Given the description of an element on the screen output the (x, y) to click on. 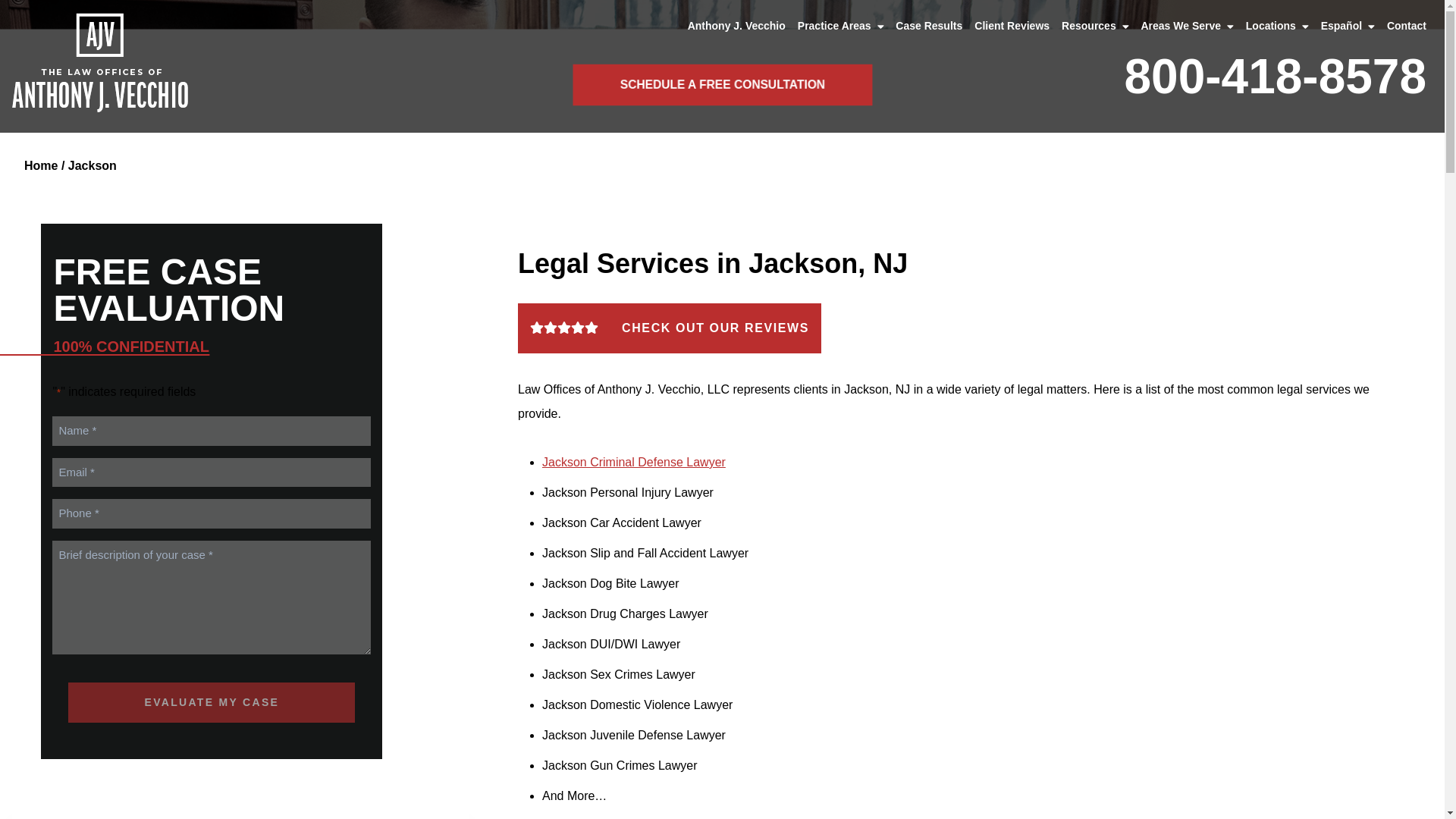
Practice Areas (840, 26)
Evaluate My Case (211, 702)
Anthony J. Vecchio (736, 26)
